Given the description of an element on the screen output the (x, y) to click on. 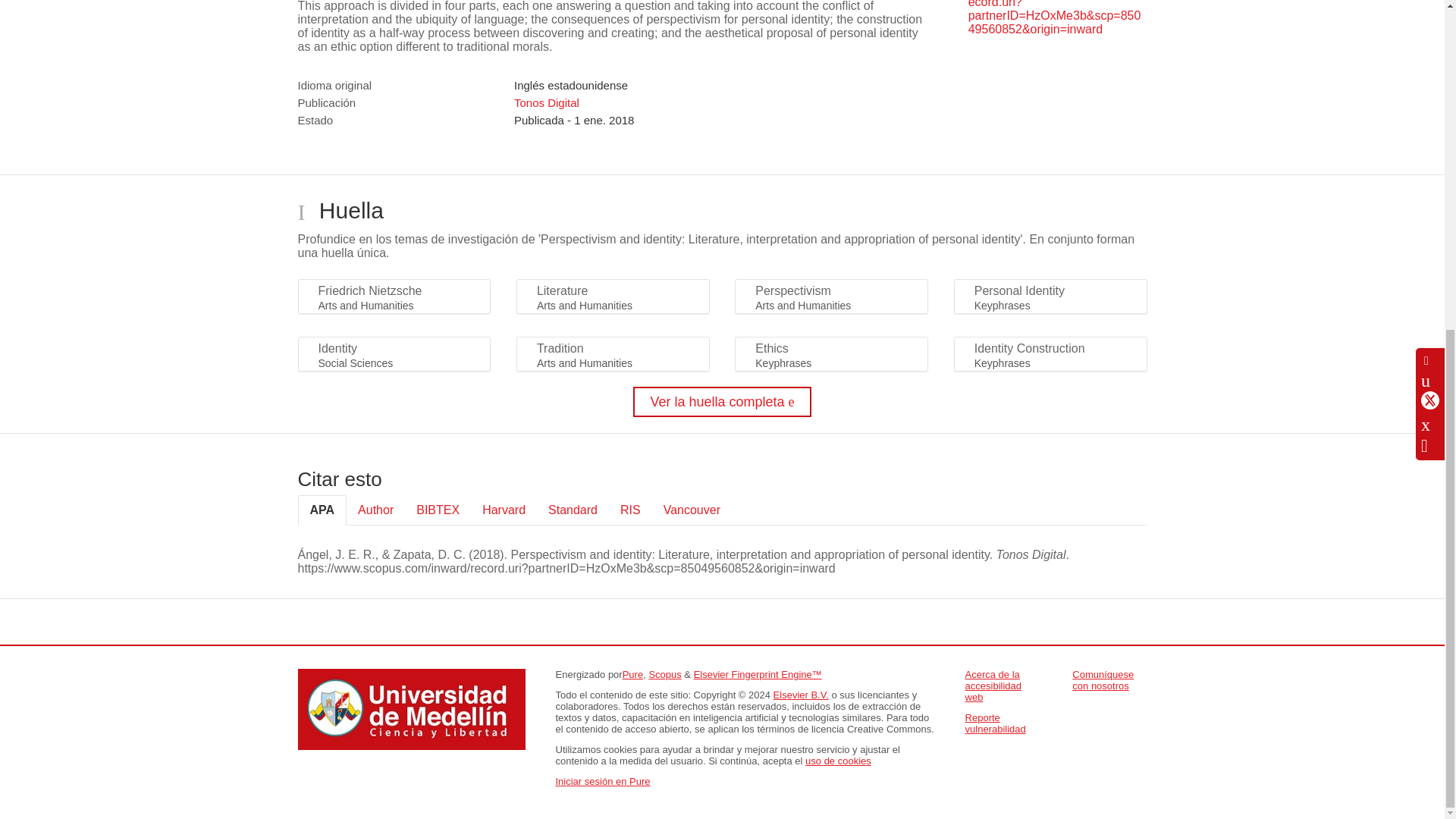
Tonos Digital (546, 102)
Ver la huella completa (721, 401)
Scopus (664, 674)
Pure (633, 674)
